Given the description of an element on the screen output the (x, y) to click on. 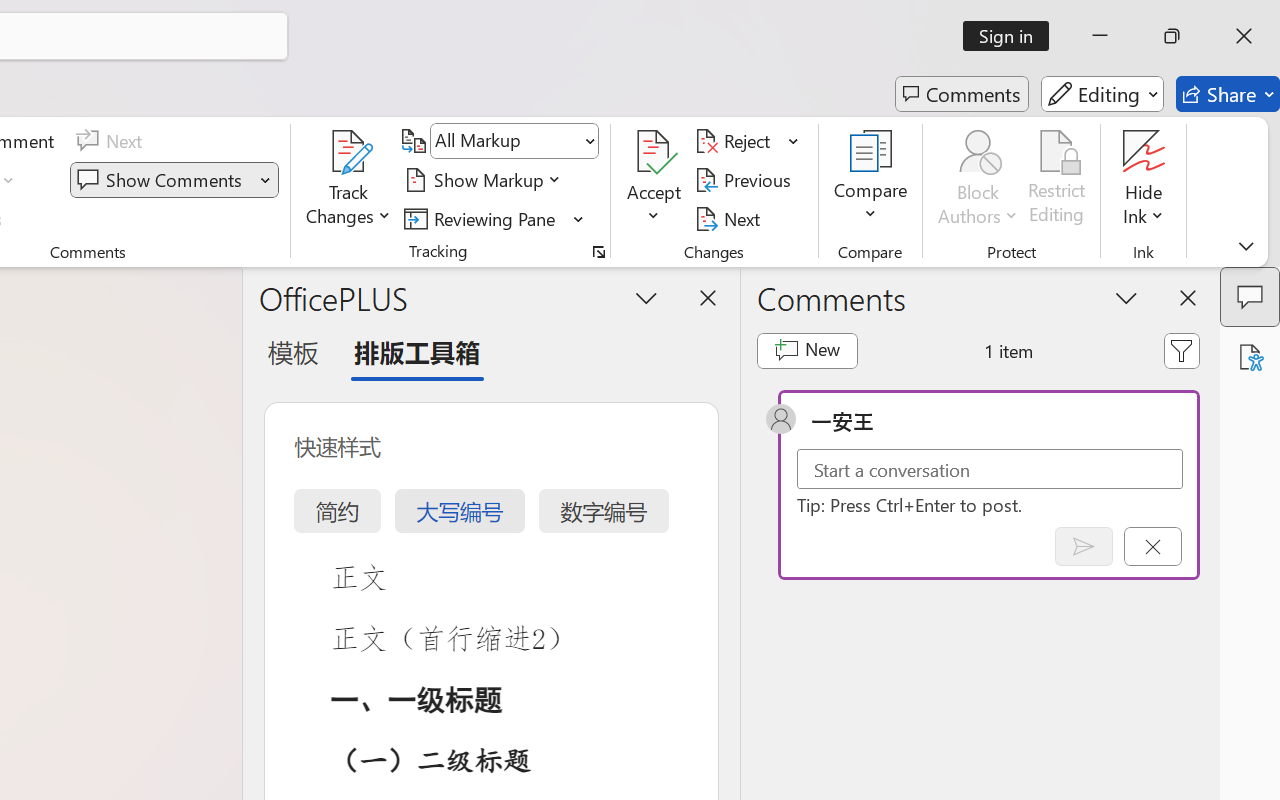
Cancel (1152, 546)
Start a conversation (990, 468)
Post comment (Ctrl + Enter) (1083, 546)
